Given the description of an element on the screen output the (x, y) to click on. 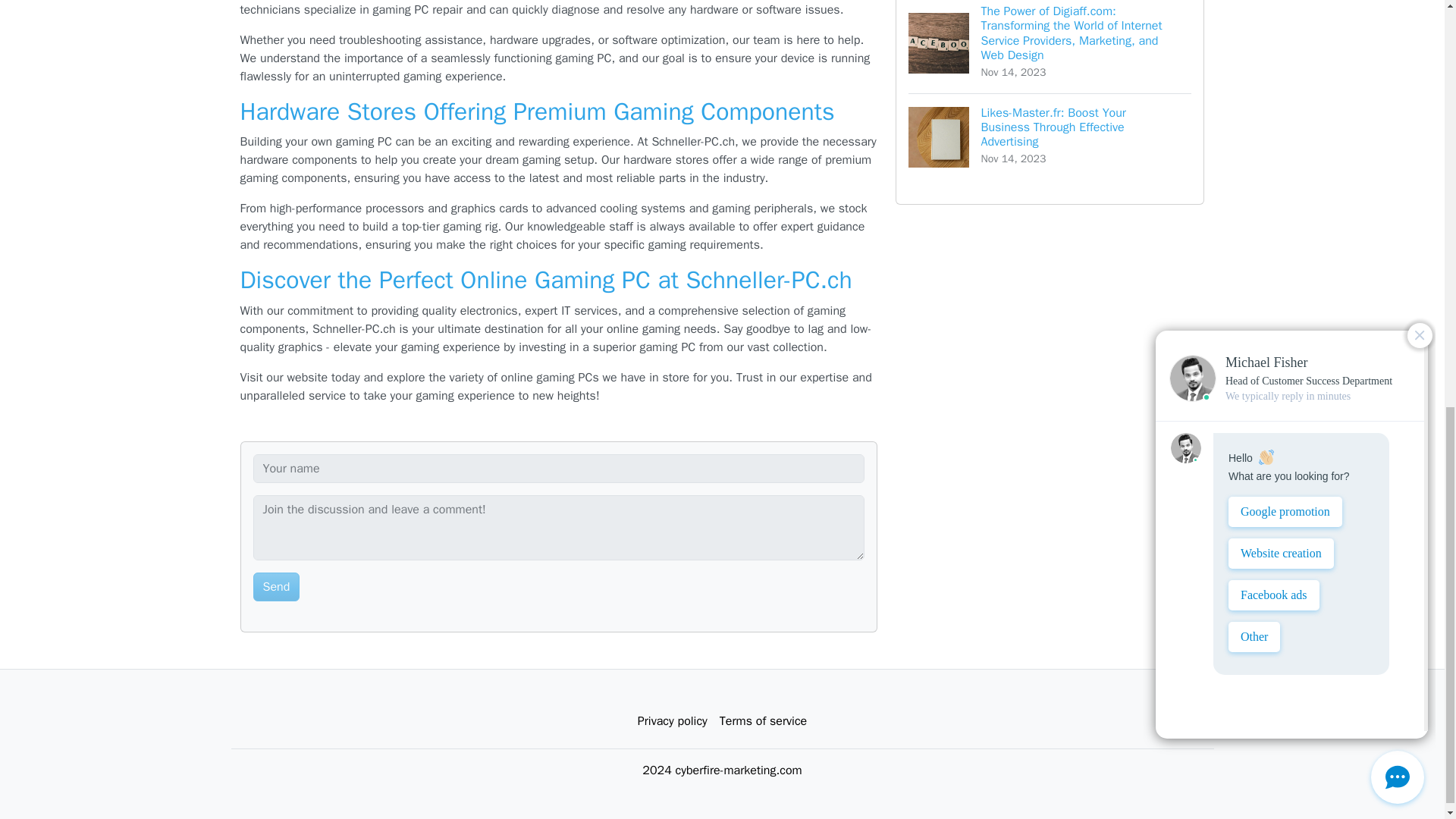
Send (276, 586)
Send (276, 586)
Privacy policy (672, 720)
Terms of service (762, 720)
